Given the description of an element on the screen output the (x, y) to click on. 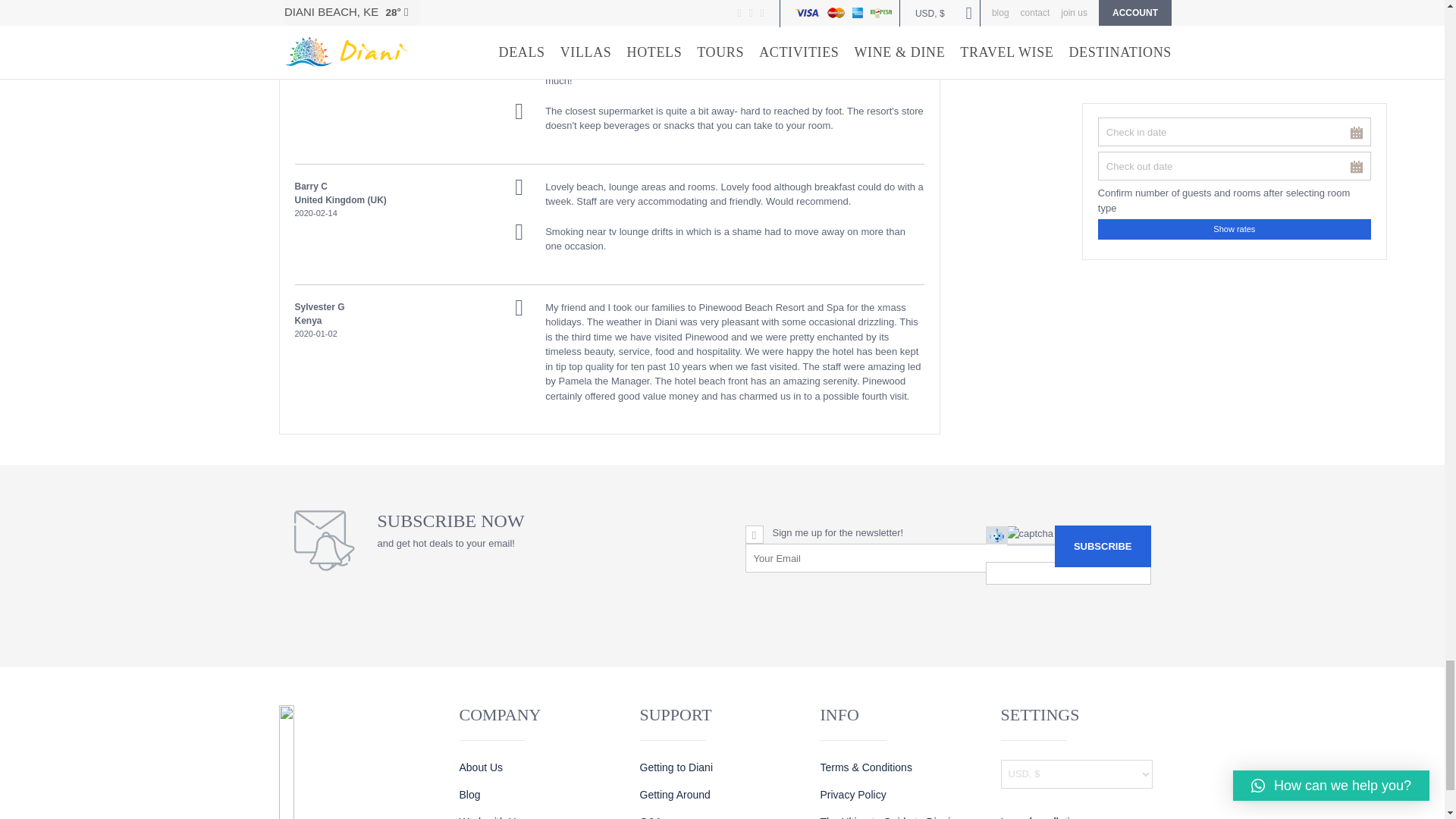
Subscribe (1102, 546)
